Given the description of an element on the screen output the (x, y) to click on. 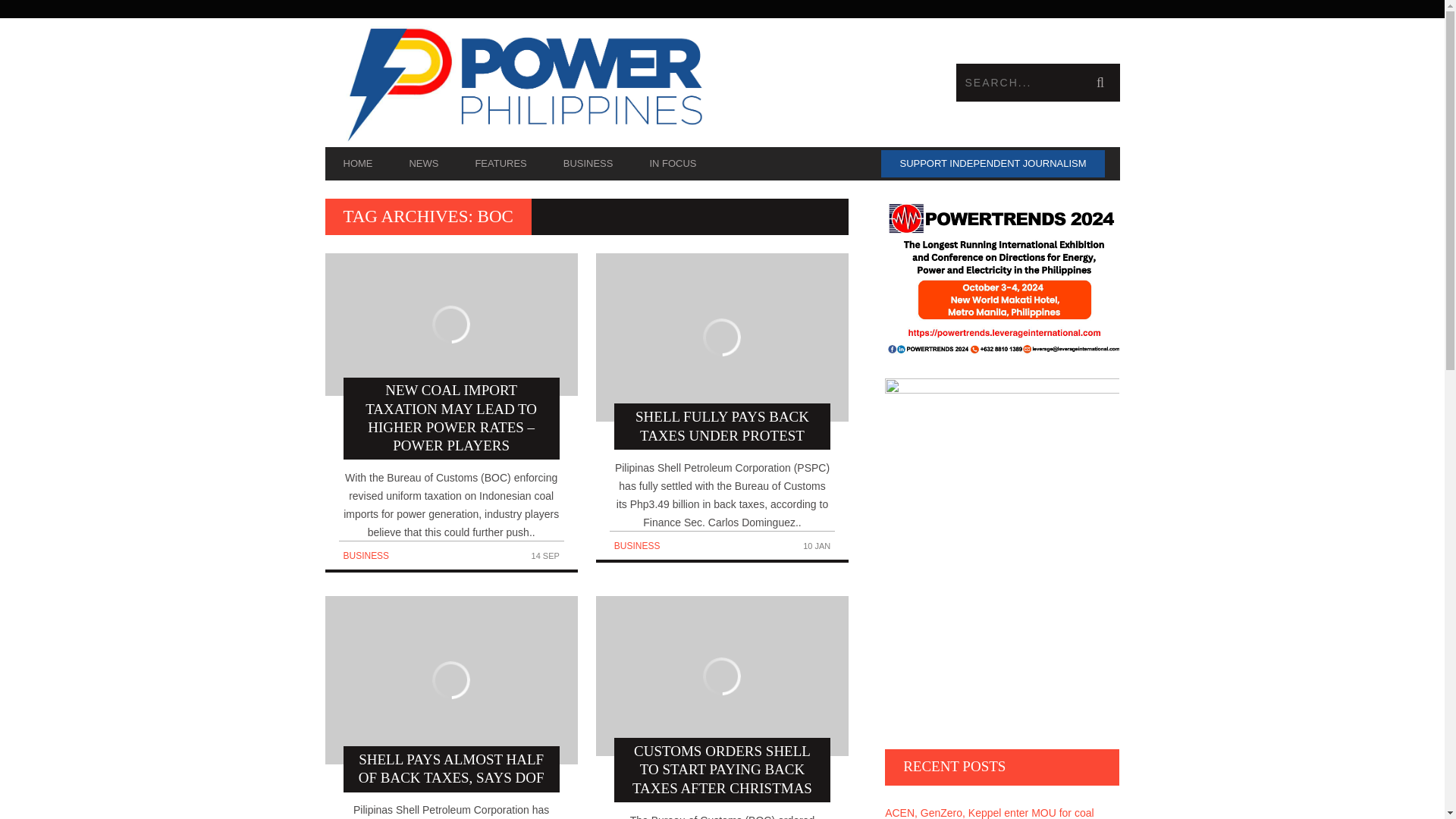
BUSINESS (587, 163)
View all posts in Business (365, 555)
NEWS (423, 163)
SHELL PAYS ALMOST HALF OF BACK TAXES, SAYS DOF (450, 693)
SUPPORT INDEPENDENT JOURNALISM (991, 163)
ACEN, GenZero, Keppel enter MOU for coal plant retirement (1002, 809)
Power Philippines (523, 82)
SHELL FULLY PAYS BACK TAXES UNDER PROTEST (721, 350)
HOME (357, 163)
View all posts in Business (637, 545)
